Given the description of an element on the screen output the (x, y) to click on. 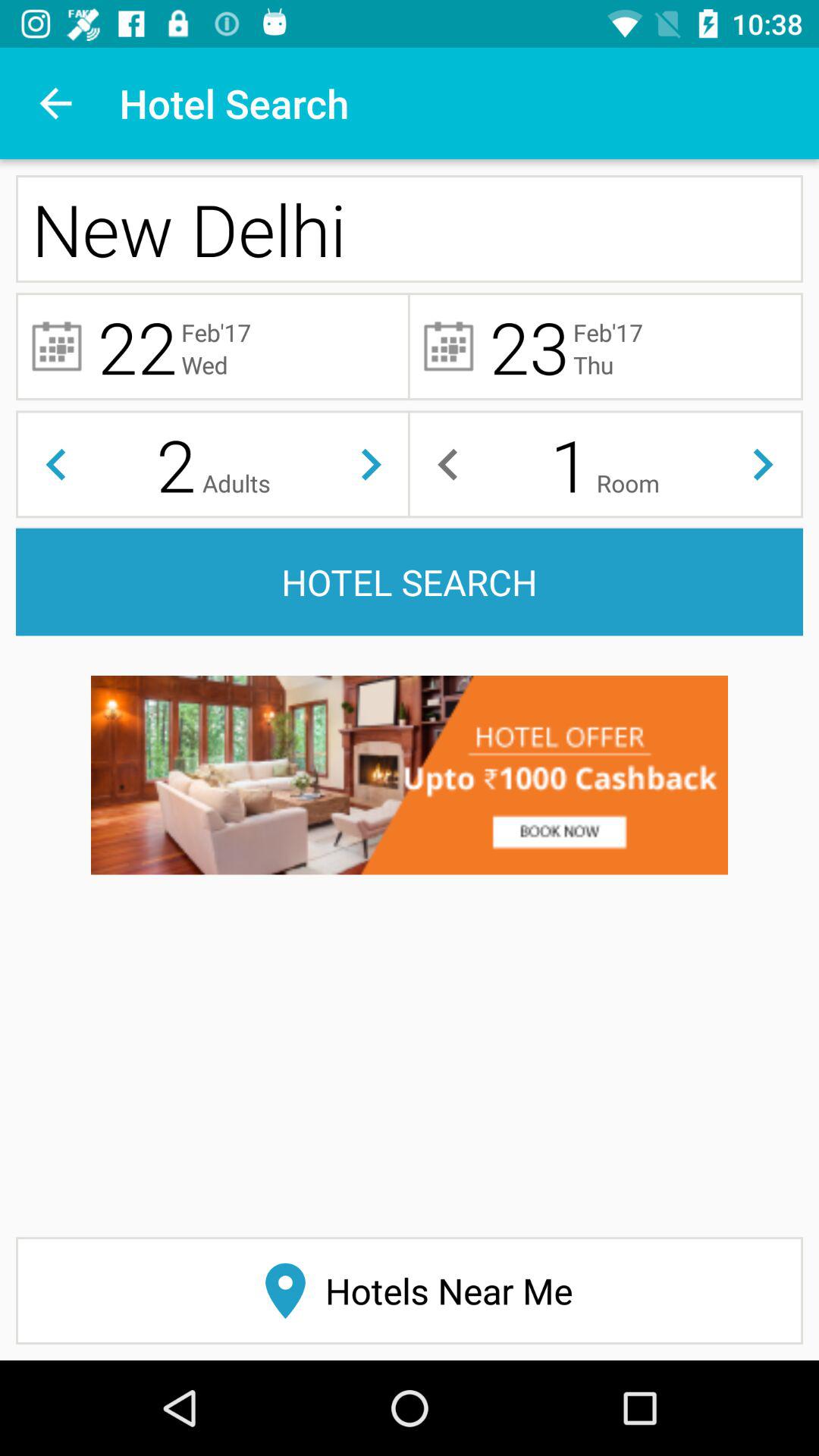
toggle autoplay option (763, 464)
